Given the description of an element on the screen output the (x, y) to click on. 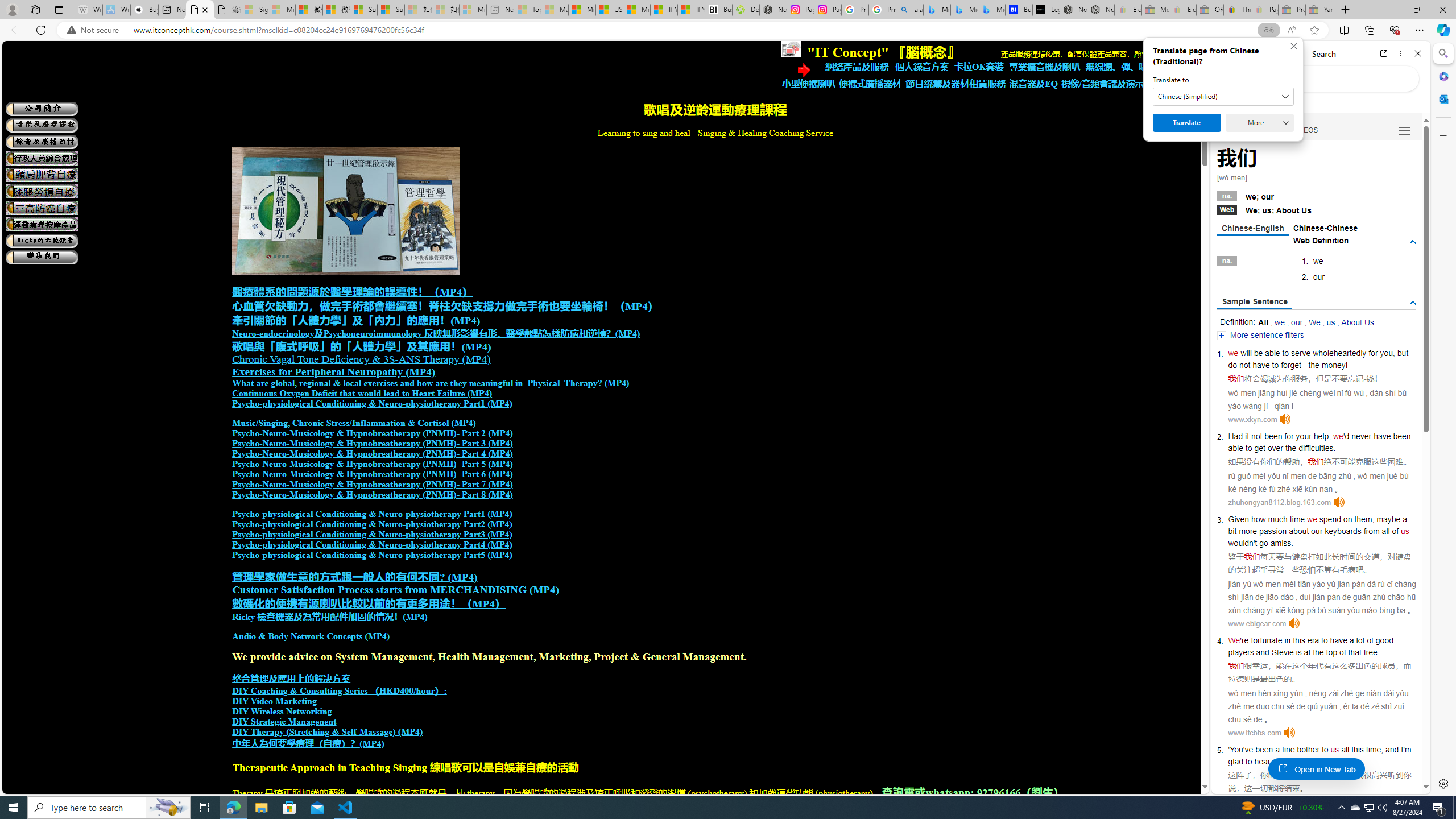
stop (1322, 760)
Home (1261, 53)
Back (1225, 53)
era (1313, 640)
wholeheartedly (1340, 352)
You (1236, 749)
Restore (1416, 9)
Workspaces (34, 9)
AutomationID: tgdef (1412, 241)
